Given the description of an element on the screen output the (x, y) to click on. 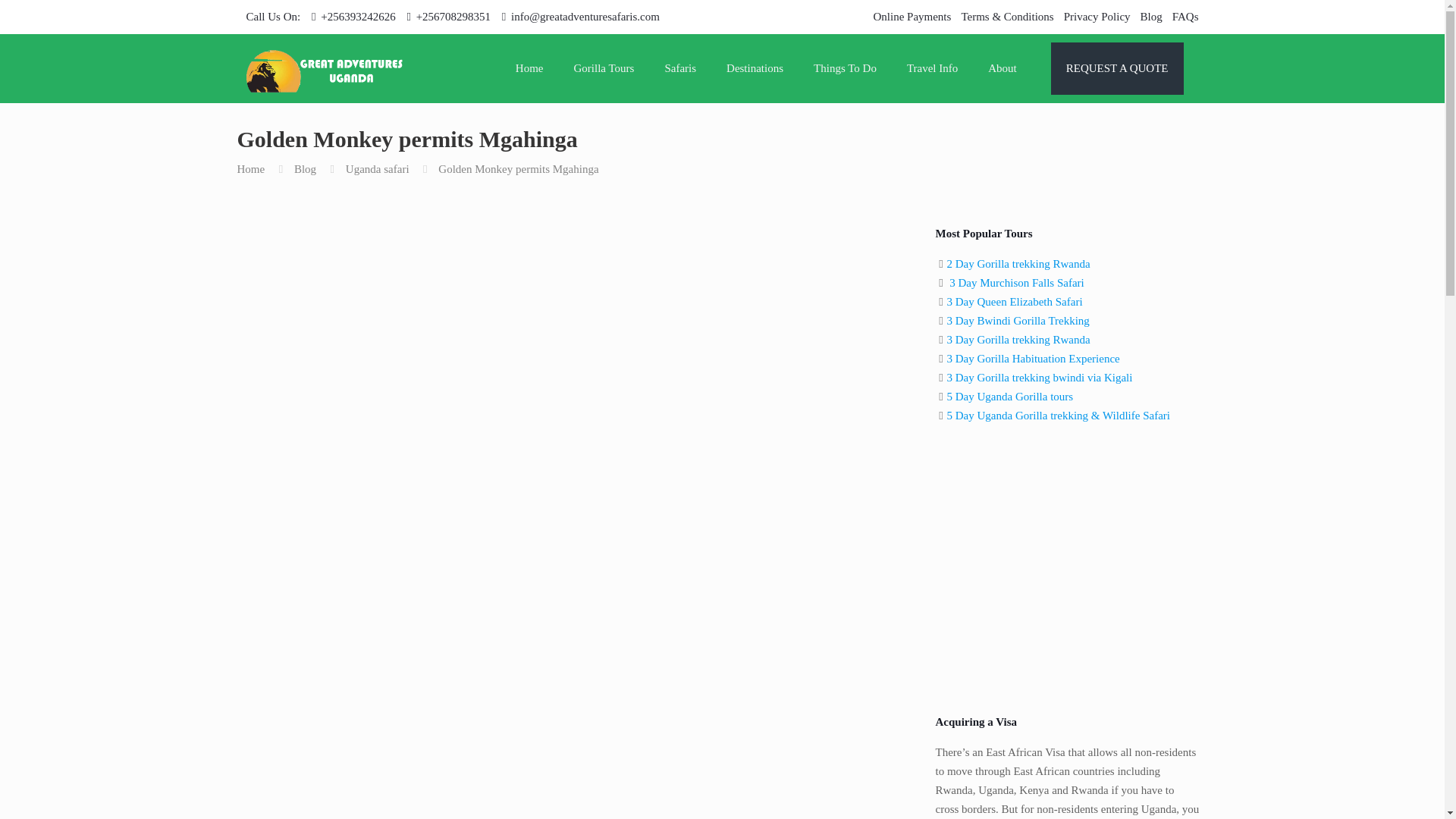
Online Payments (911, 16)
Safaris (680, 68)
FAQs (1185, 16)
Blog (1150, 16)
Great Adventures Safaris (324, 68)
Destinations (754, 68)
Gorilla Tours (603, 68)
Privacy Policy (1097, 16)
